Given the description of an element on the screen output the (x, y) to click on. 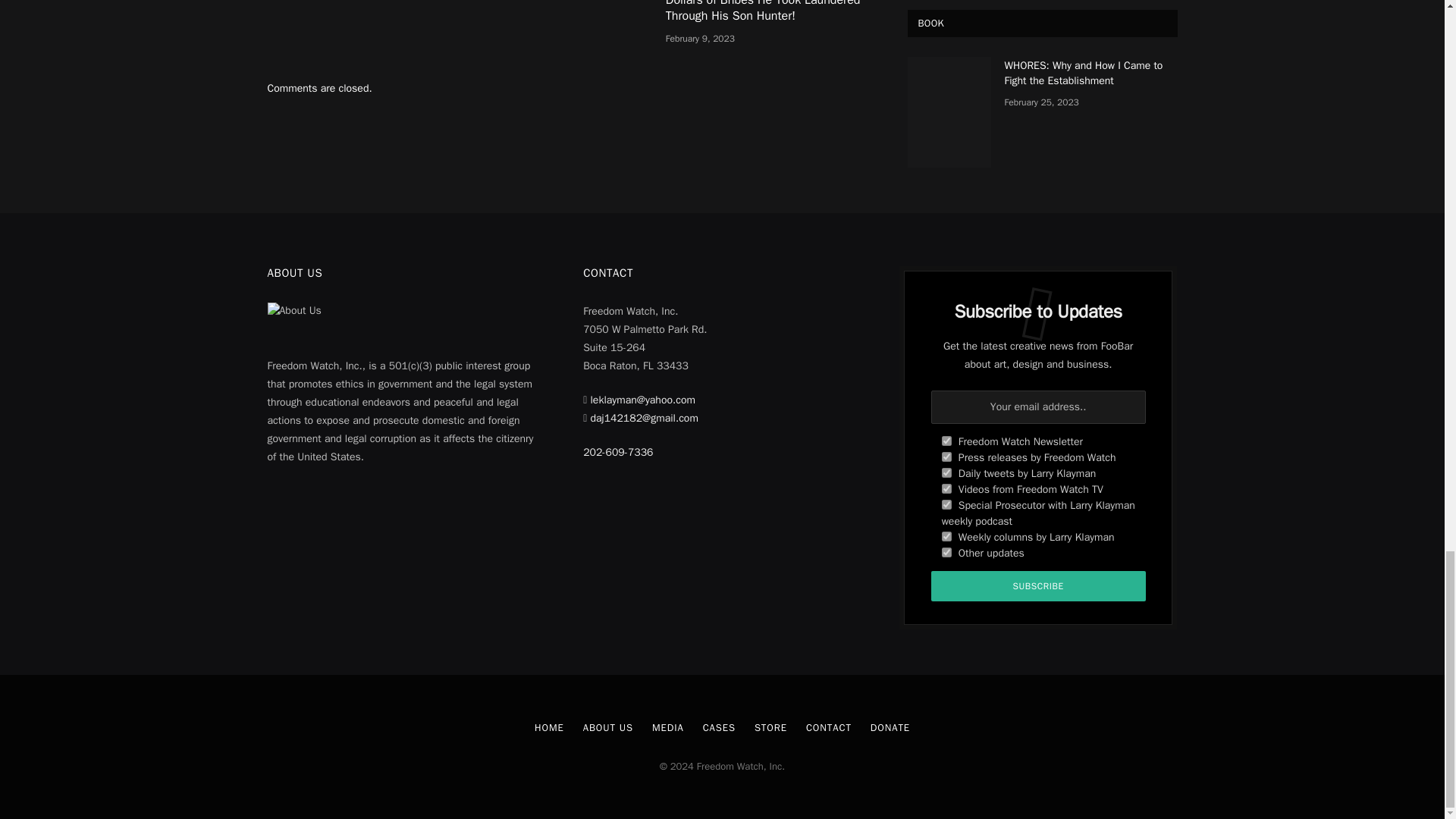
Press releases by Freedom Watch (947, 456)
Special Prosecutor with Larry Klayman weekly podcast (947, 504)
Videos from Freedom Watch TV (947, 488)
Freedom Watch Newsletter (947, 440)
Other updates (947, 552)
Weekly columns by Larry Klayman (947, 536)
Subscribe (1038, 585)
Daily tweets by Larry Klayman (947, 472)
